Given the description of an element on the screen output the (x, y) to click on. 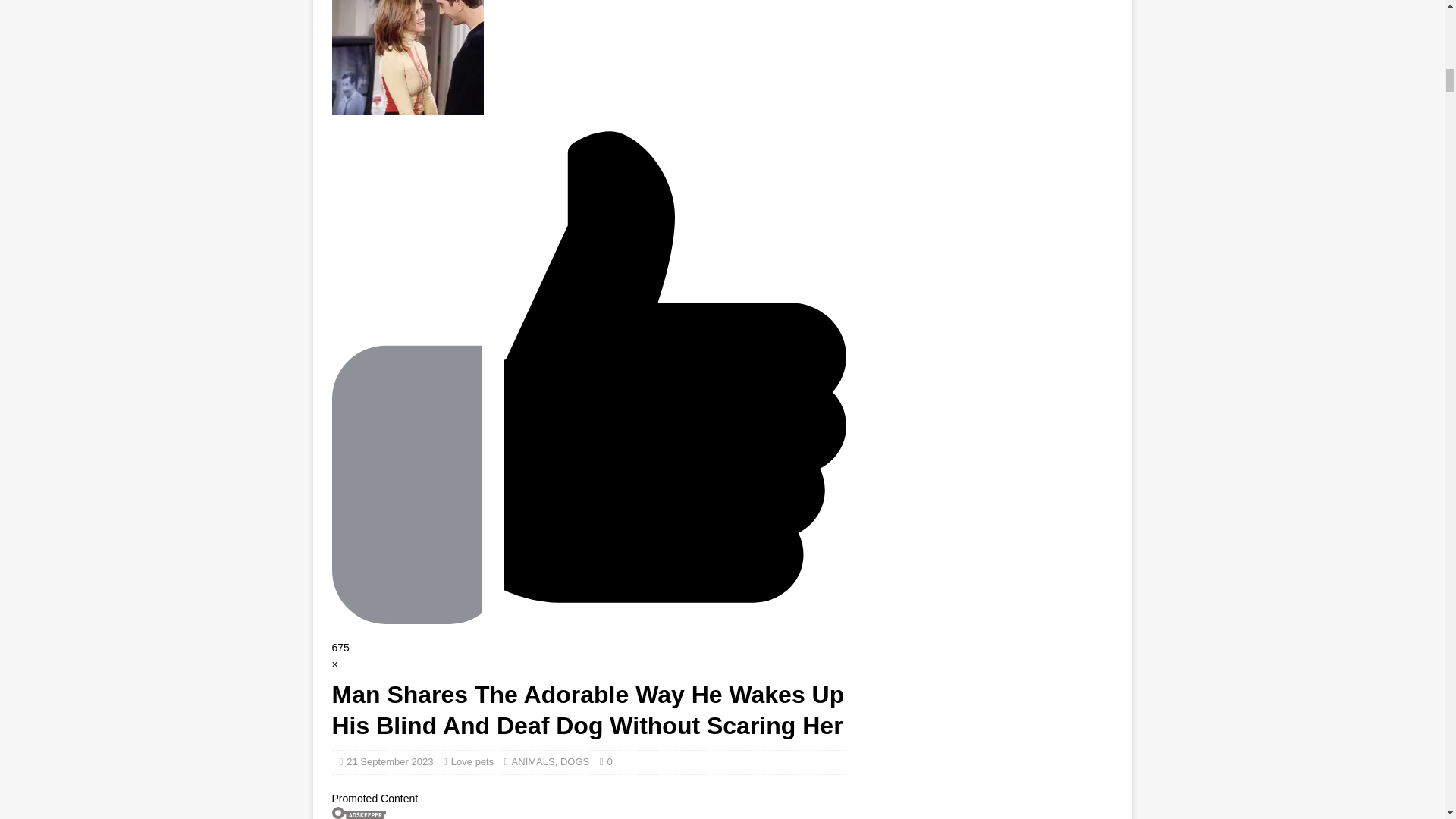
21 September 2023 (389, 761)
DOGS (574, 761)
ANIMALS (533, 761)
Love pets (472, 761)
